Given the description of an element on the screen output the (x, y) to click on. 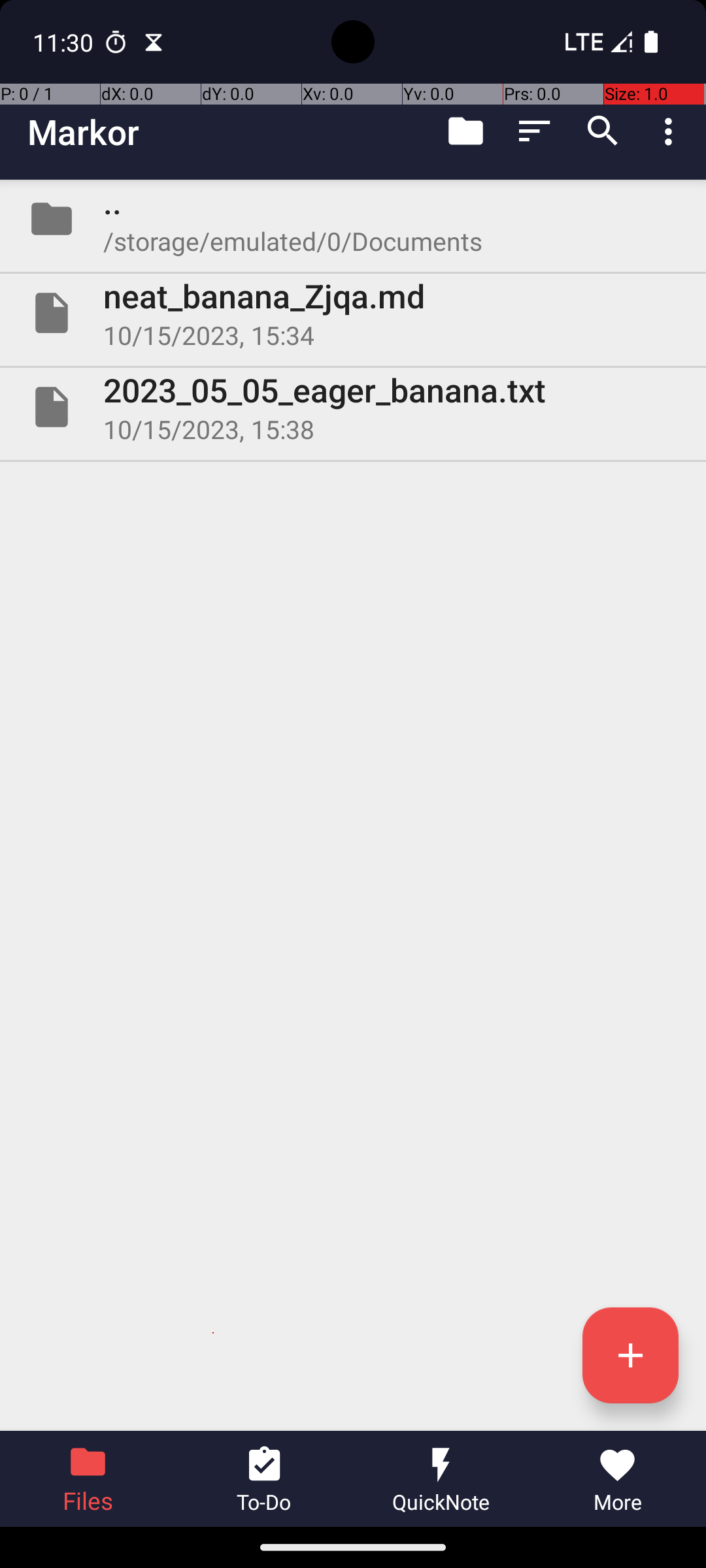
File neat_banana_Zjqa.md  Element type: android.widget.LinearLayout (353, 312)
File 2023_05_05_eager_banana.txt  Element type: android.widget.LinearLayout (353, 406)
11:30 Element type: android.widget.TextView (64, 41)
